Given the description of an element on the screen output the (x, y) to click on. 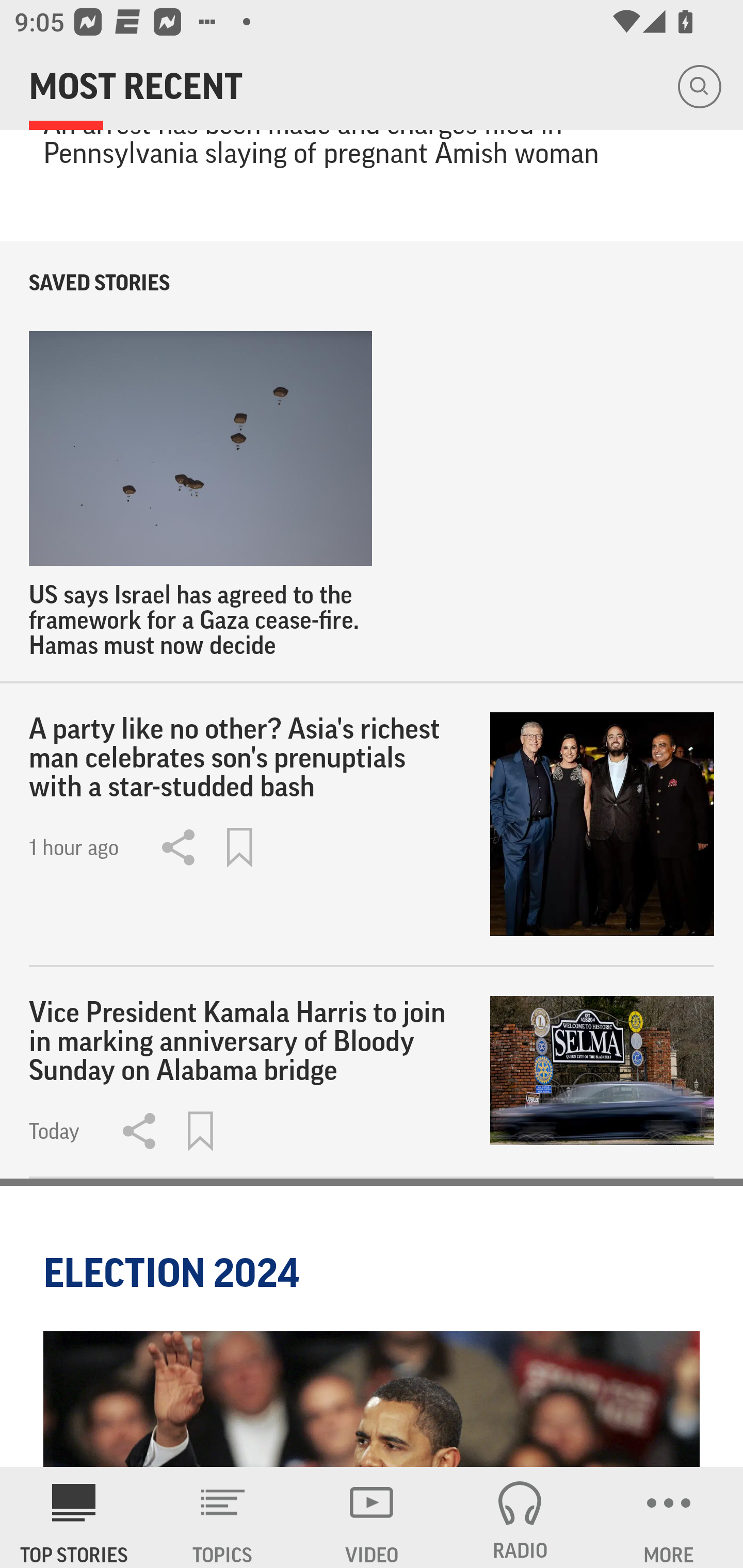
ELECTION 2024 (174, 1273)
AP News TOP STORIES (74, 1517)
TOPICS (222, 1517)
VIDEO (371, 1517)
RADIO (519, 1517)
MORE (668, 1517)
